Given the description of an element on the screen output the (x, y) to click on. 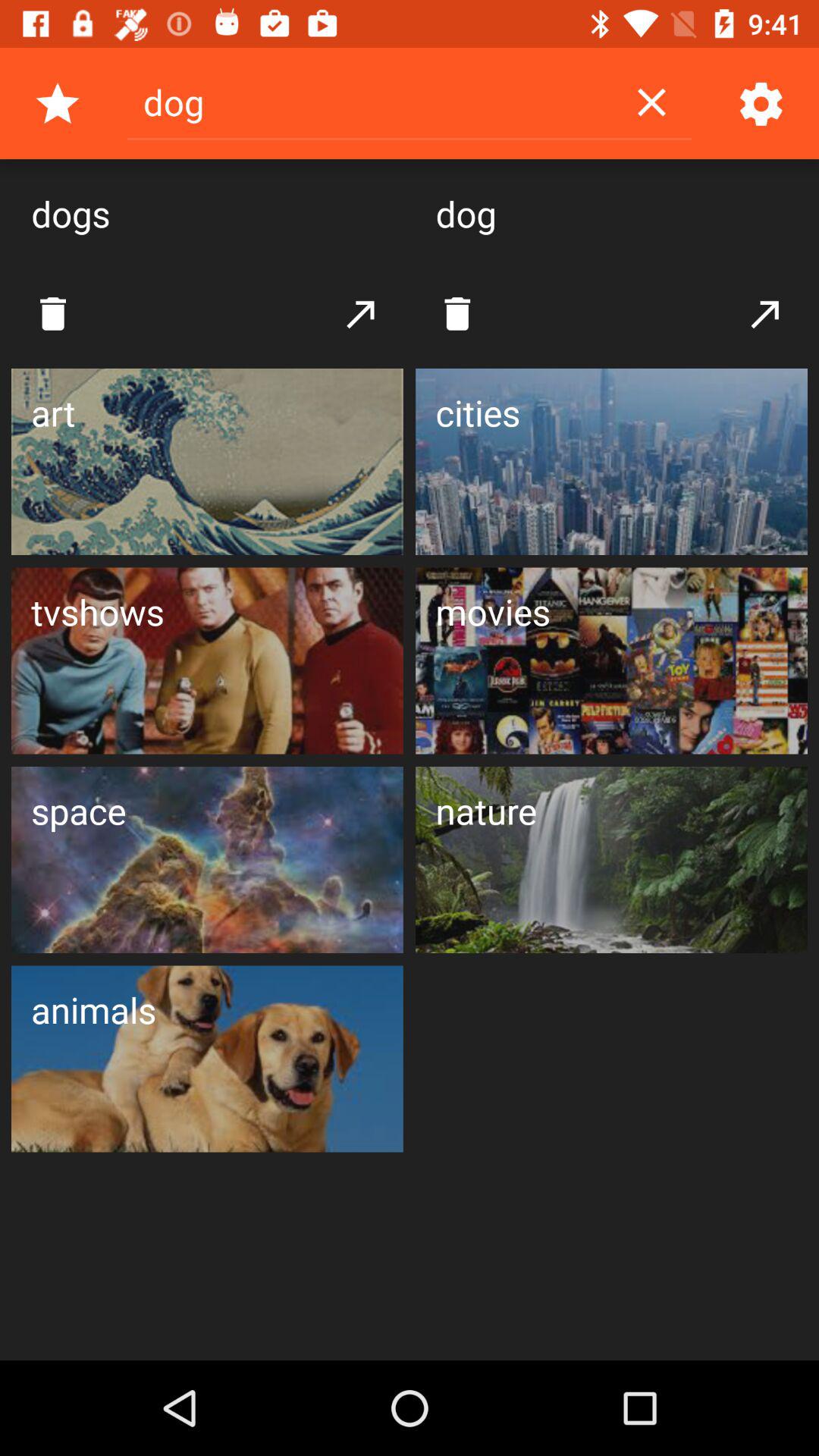
click on the button which is below the dog and above the cities (457, 313)
select the first image in first row (207, 461)
click on the button which is in between both the delete buttons (361, 313)
select the text which is next to the star button (369, 102)
